Given the description of an element on the screen output the (x, y) to click on. 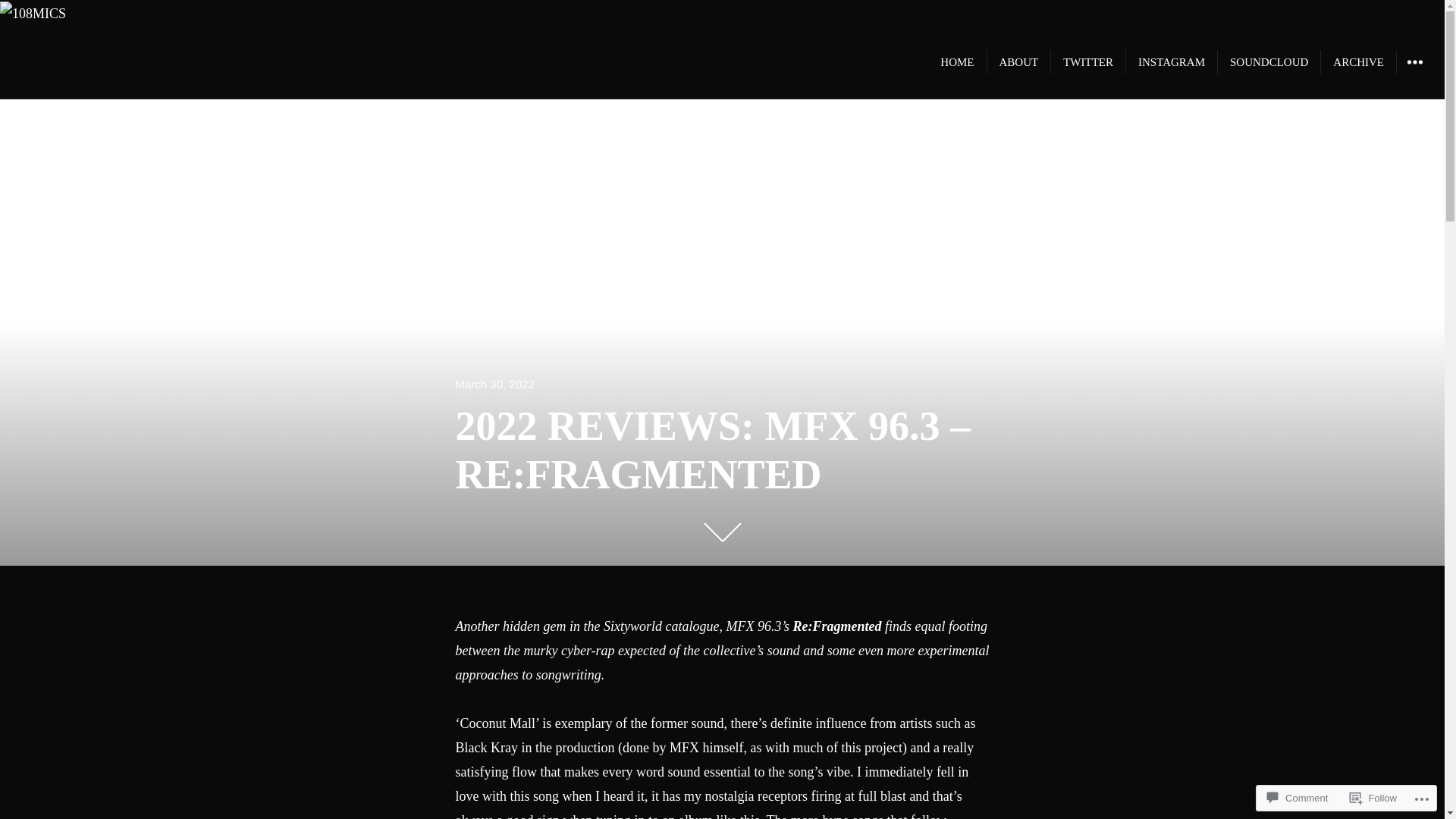
WIDGETS Element type: text (1414, 62)
Comment Element type: text (1297, 797)
SOUNDCLOUD Element type: text (1268, 62)
ARCHIVE Element type: text (1358, 62)
Follow Element type: text (1372, 797)
HOME Element type: text (956, 62)
March 30, 2022 Element type: text (494, 383)
TWITTER Element type: text (1088, 62)
ABOUT Element type: text (1019, 62)
108MICS Element type: text (65, 61)
INSTAGRAM Element type: text (1171, 62)
